Given the description of an element on the screen output the (x, y) to click on. 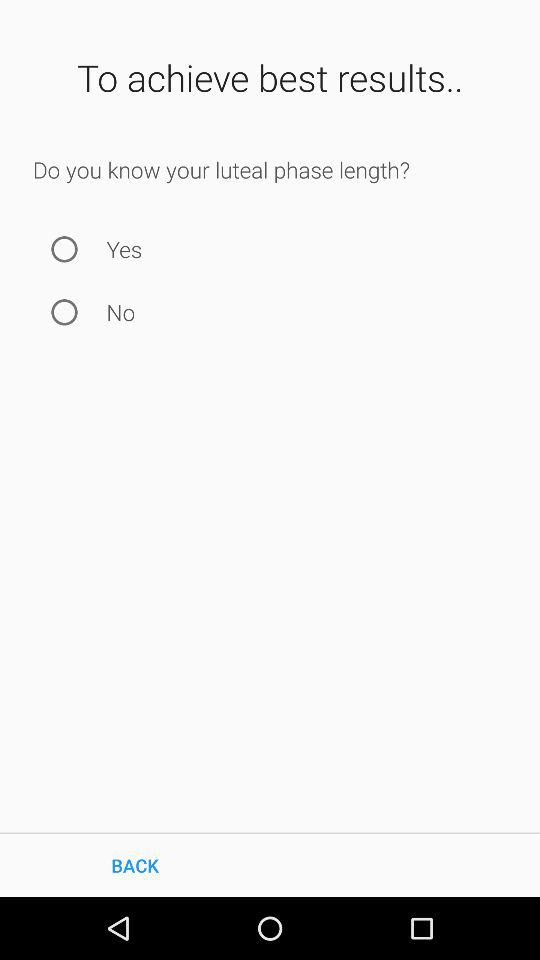
turn on the item below the do you know (64, 248)
